Given the description of an element on the screen output the (x, y) to click on. 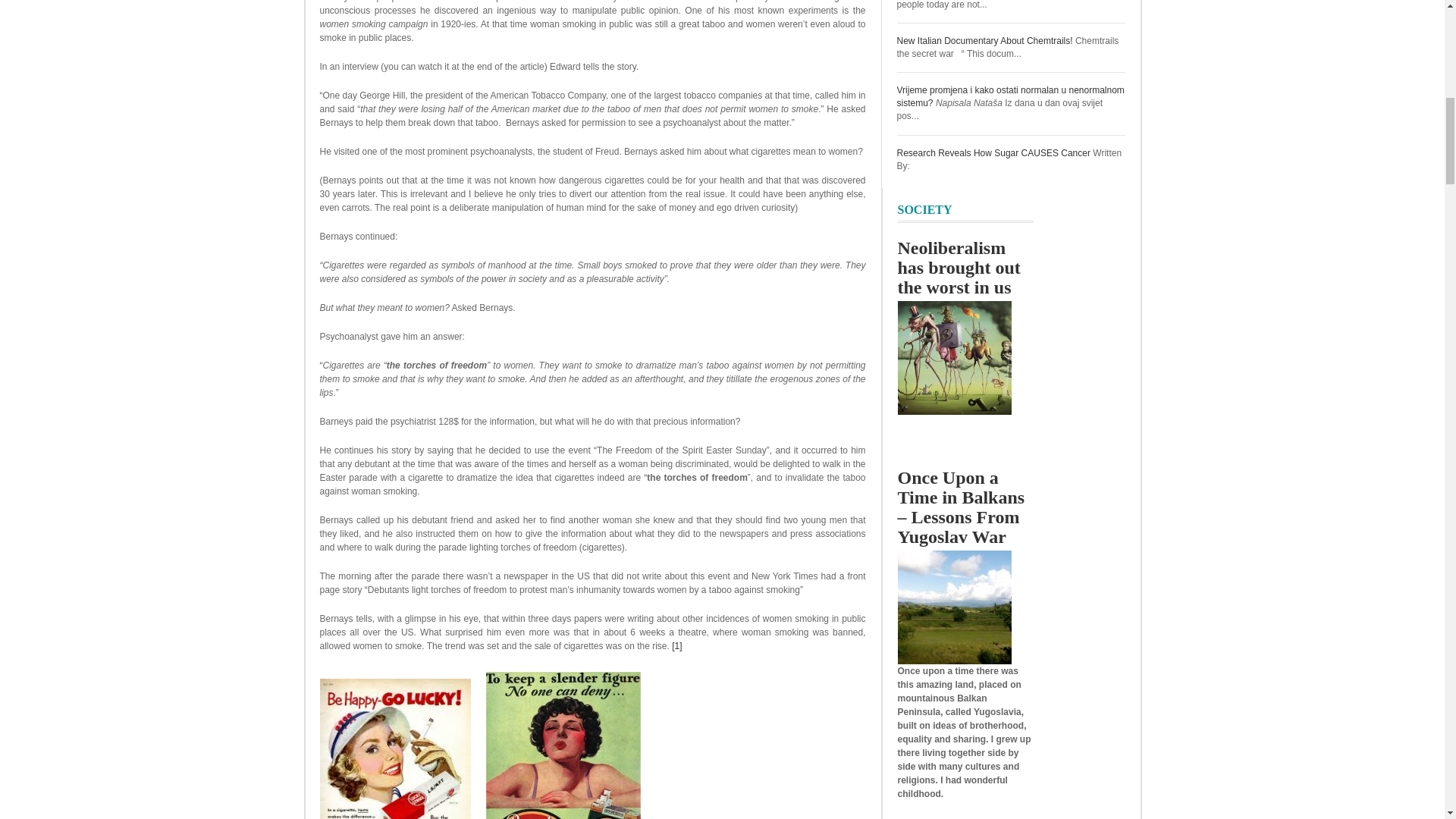
New Italian Documentary About Chemtrails! (983, 40)
by-tiago-hoisel (954, 357)
Research Reveals How Sugar CAUSES Cancer (992, 153)
Permalink to Neoliberalism has brought out the worst in us (959, 267)
